Given the description of an element on the screen output the (x, y) to click on. 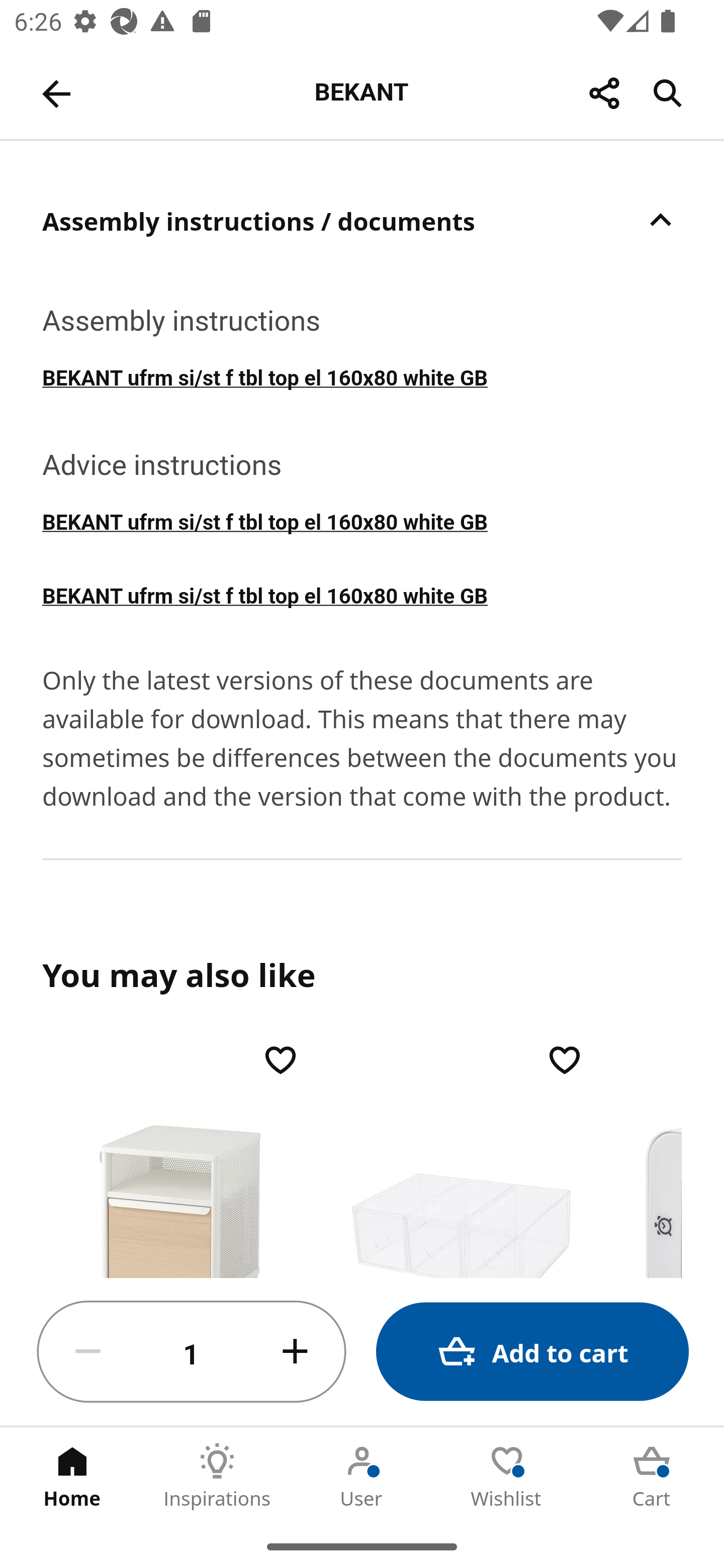
Assembly instructions / documents (361, 219)
BEKANT ufrm si/st f tbl top el 160x80 white GB (361, 376)
BEKANT ufrm si/st f tbl top el 160x80 white GB (361, 520)
BEKANT ufrm si/st f tbl top el 160x80 white GB (361, 593)
Add to cart (531, 1352)
1 (191, 1352)
Home
Tab 1 of 5 (72, 1476)
Inspirations
Tab 2 of 5 (216, 1476)
User
Tab 3 of 5 (361, 1476)
Wishlist
Tab 4 of 5 (506, 1476)
Cart
Tab 5 of 5 (651, 1476)
